Given the description of an element on the screen output the (x, y) to click on. 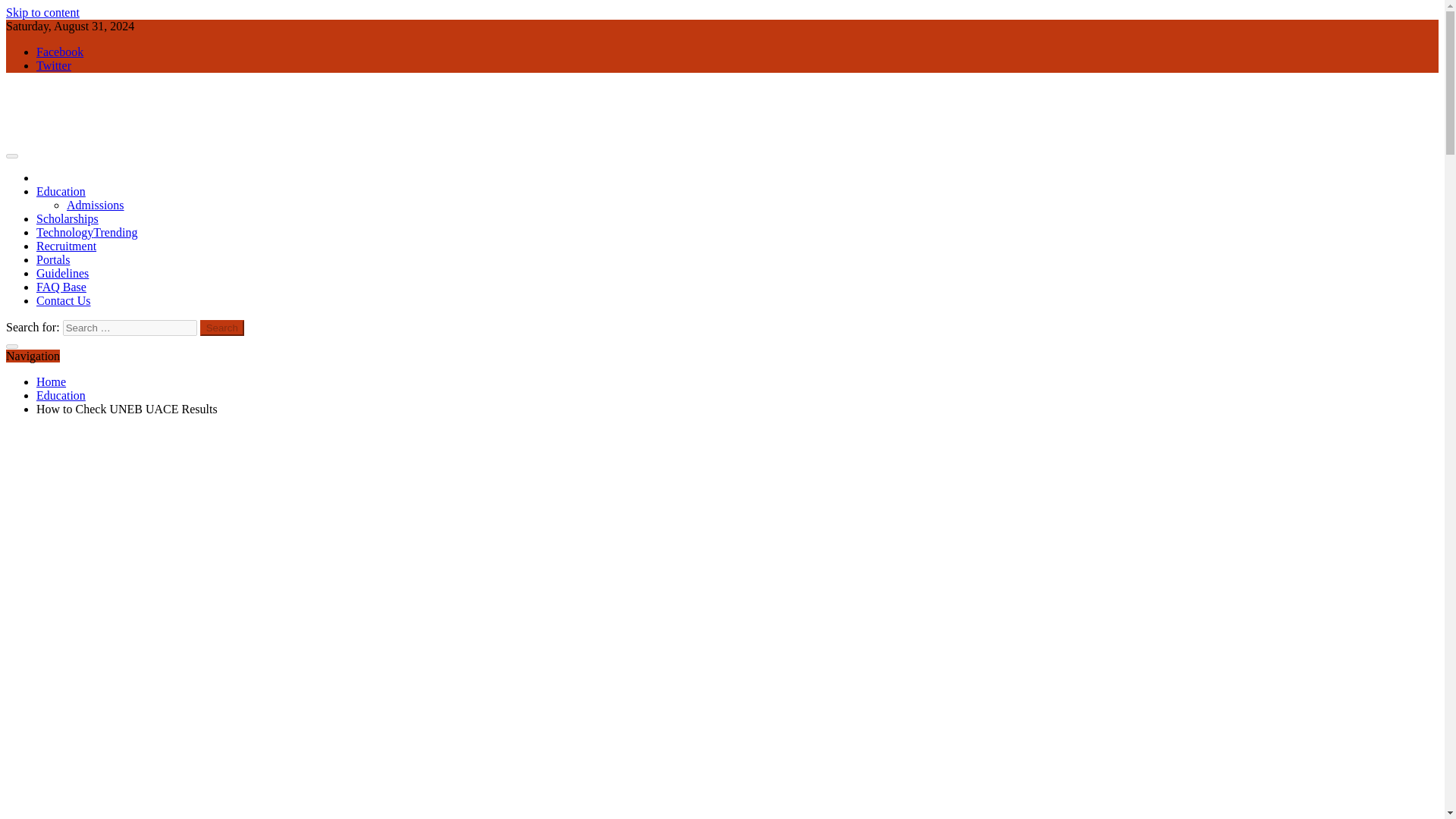
Contact Us (63, 300)
Facebook (59, 51)
Search (222, 327)
Admissions (94, 205)
Twitter (53, 65)
Home (50, 381)
Infopeeps (29, 164)
Search (222, 327)
Recruitment (66, 245)
Search (222, 327)
